Given the description of an element on the screen output the (x, y) to click on. 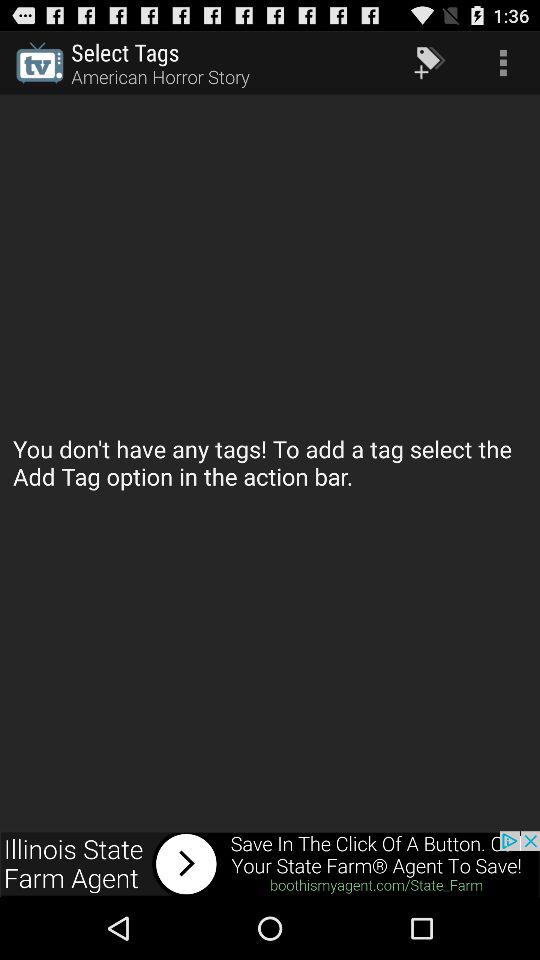
click (270, 864)
